Given the description of an element on the screen output the (x, y) to click on. 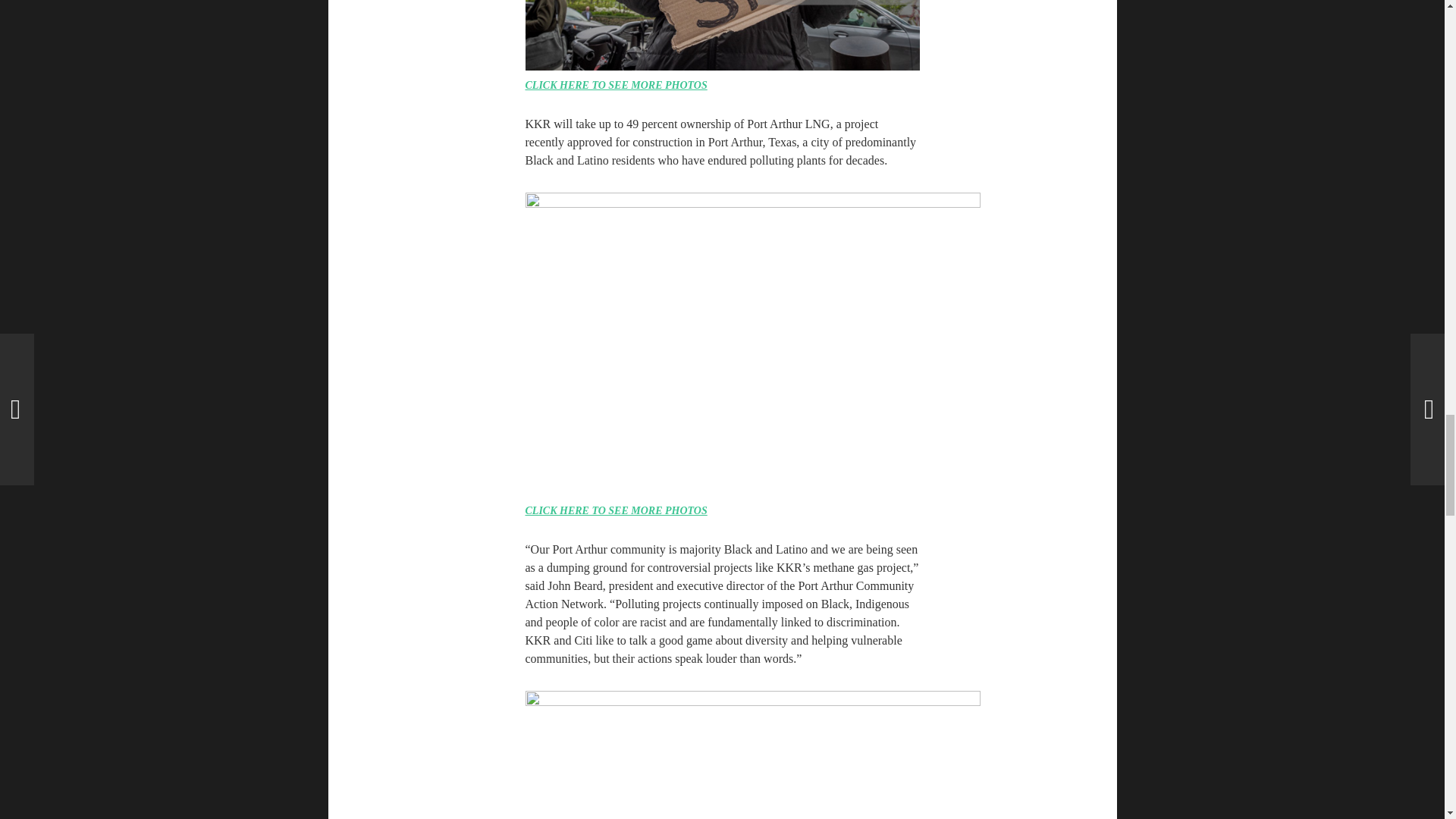
CLICK HERE TO SEE MORE PHOTOS (615, 510)
CLICK HERE TO SEE MORE PHOTOS (615, 84)
